Given the description of an element on the screen output the (x, y) to click on. 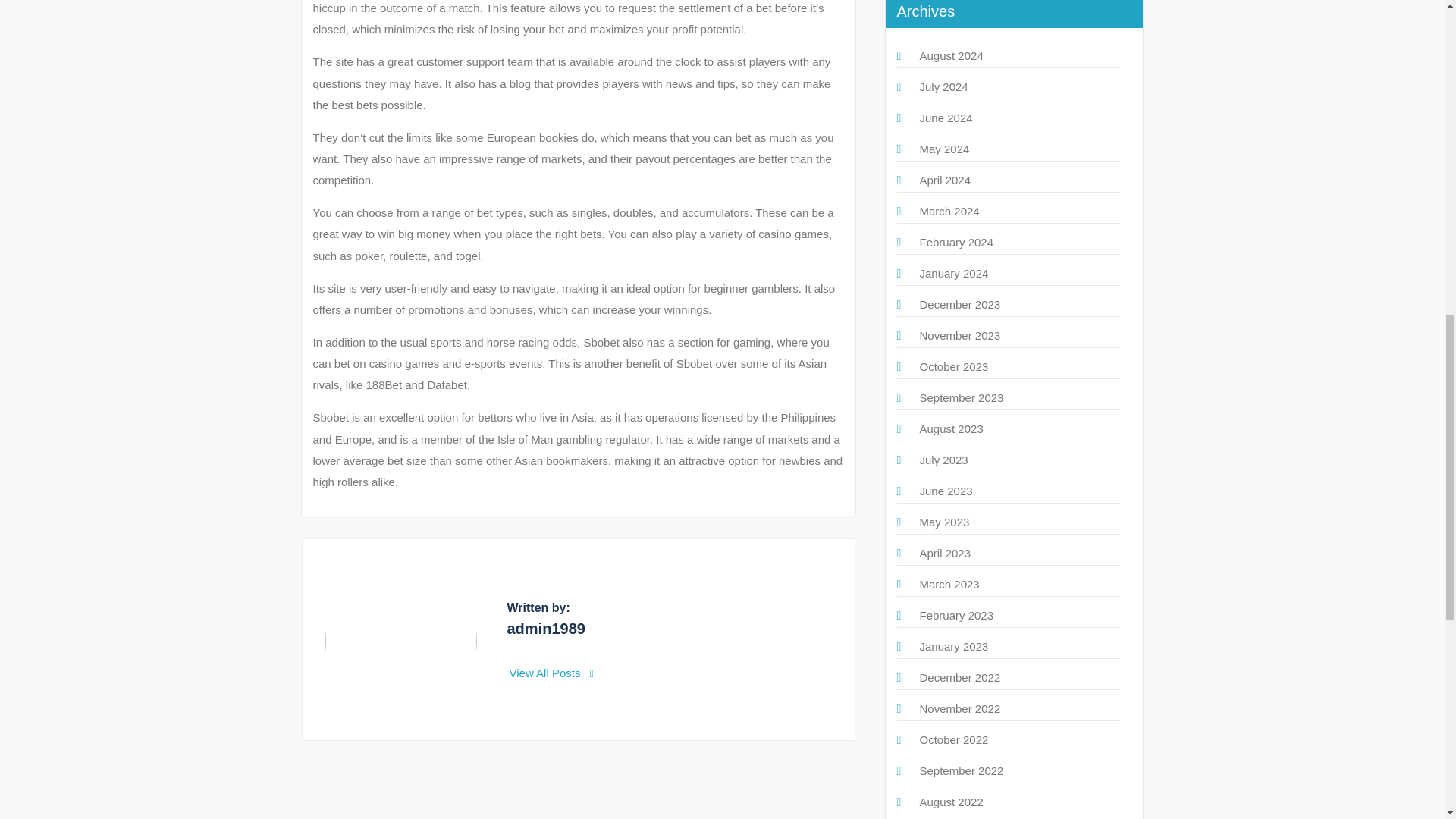
May 2023 (943, 521)
July 2023 (943, 459)
March 2024 (948, 210)
January 2024 (953, 273)
June 2023 (945, 490)
March 2023 (948, 584)
June 2024 (945, 117)
View All Posts (551, 672)
February 2024 (955, 241)
August 2024 (950, 55)
